Given the description of an element on the screen output the (x, y) to click on. 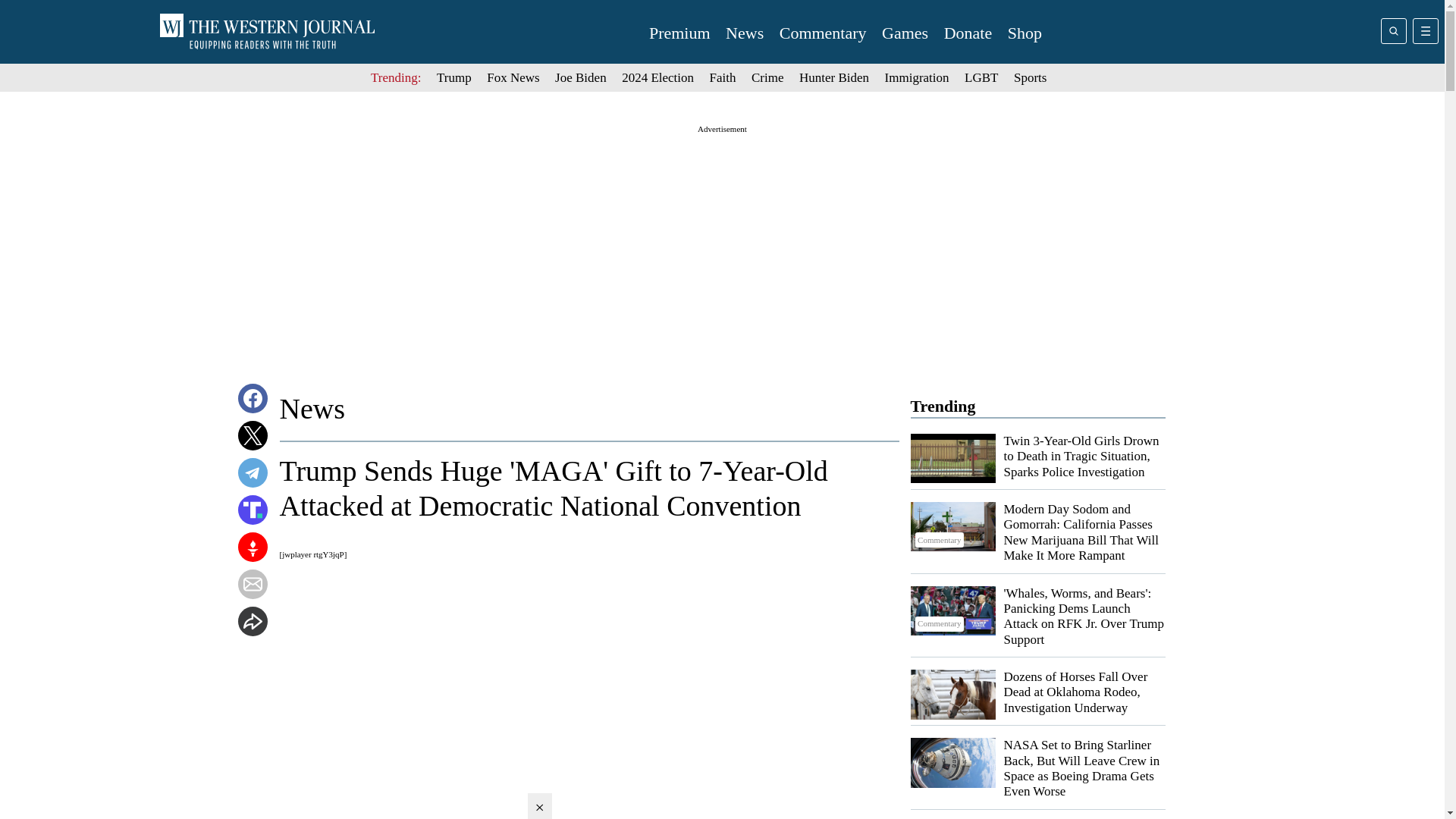
Trump (453, 77)
Commentary (952, 611)
Joe Biden (580, 77)
News (743, 32)
Commentary (952, 527)
Faith (723, 77)
Games (905, 32)
Crime (767, 77)
Commentary (822, 32)
